Given the description of an element on the screen output the (x, y) to click on. 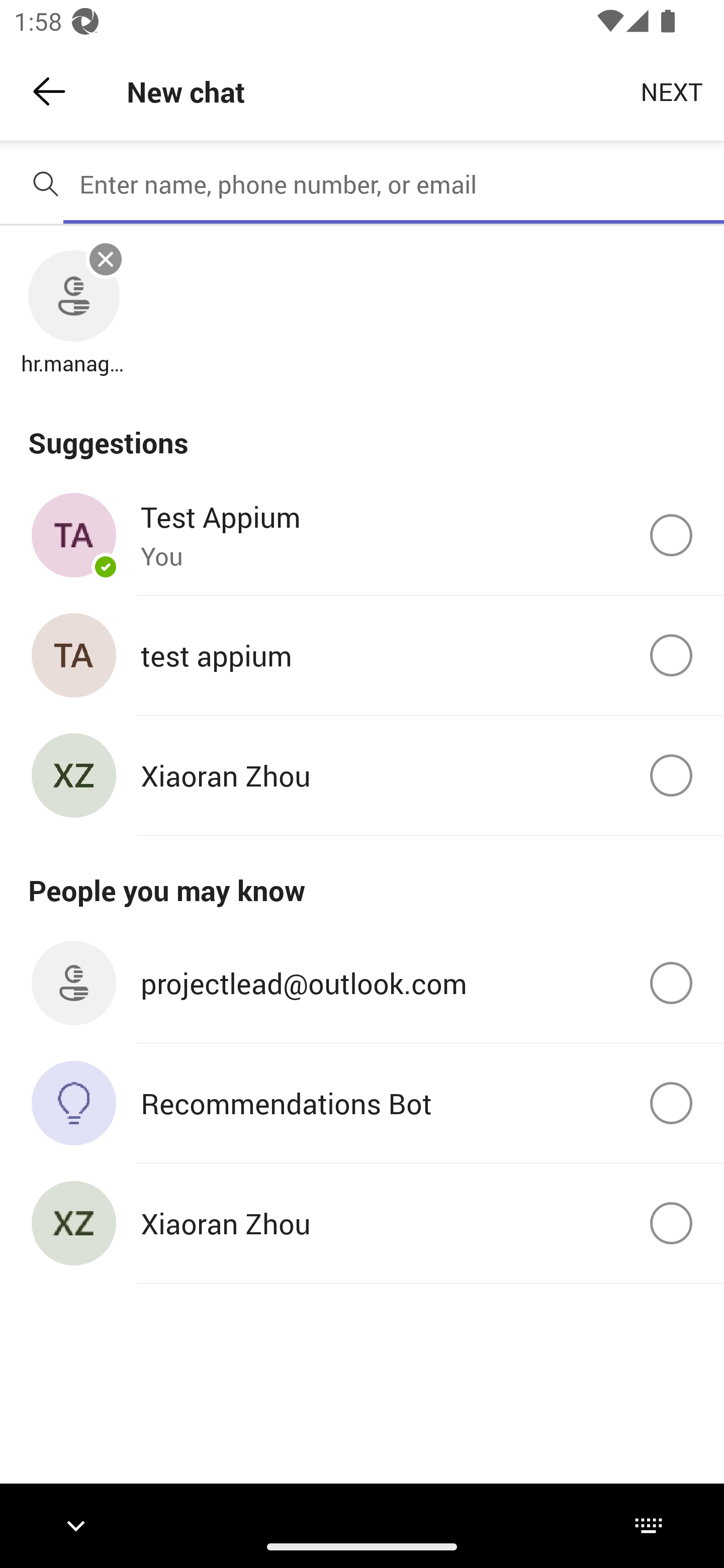
Back (49, 91)
NEXT (671, 90)
Enter name, phone number, or email (393, 184)
Remove (105, 259)
hr.manager@outlook.com profile picture (73, 295)
Suggestions section header Suggestions (362, 431)
